Given the description of an element on the screen output the (x, y) to click on. 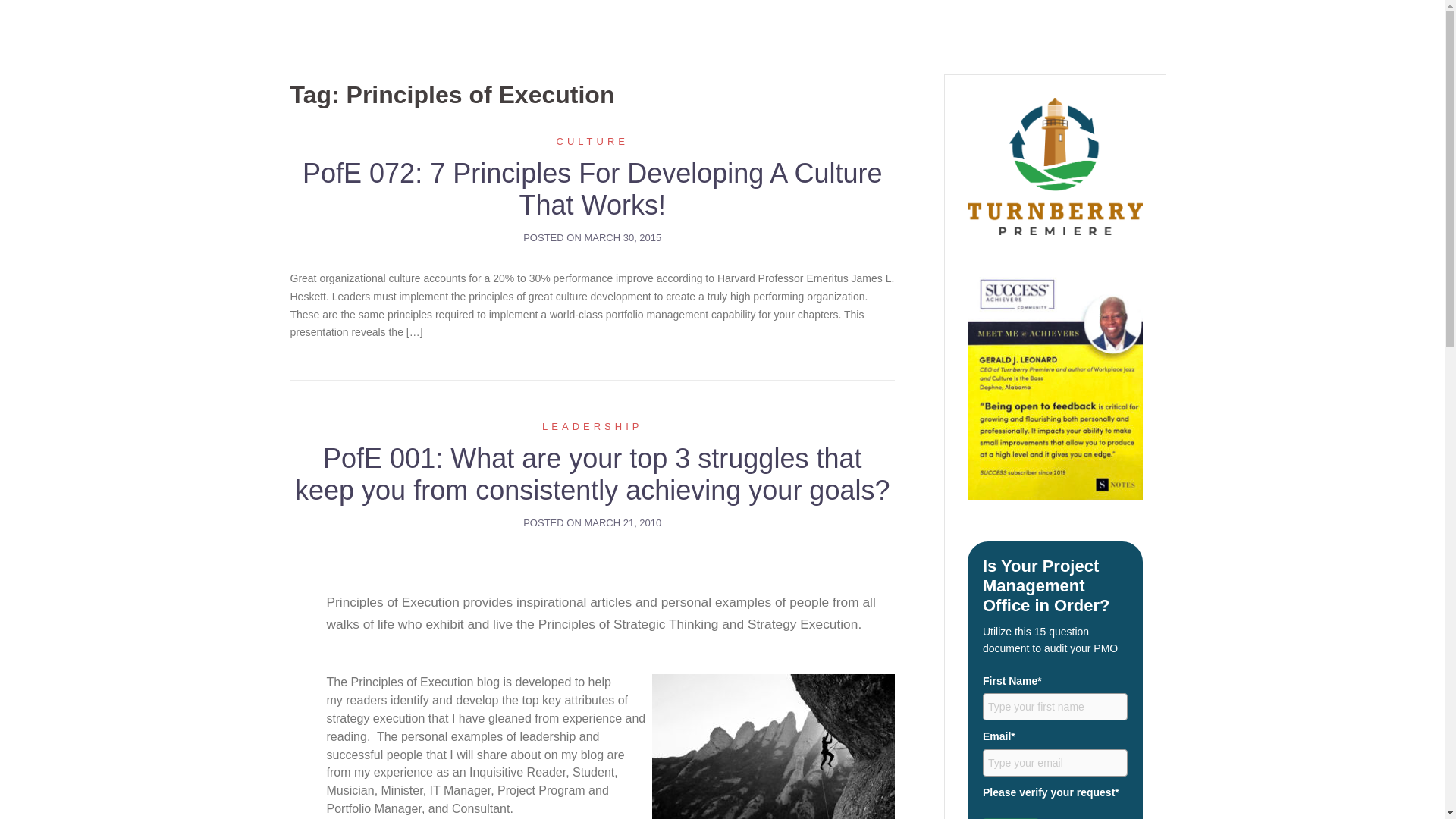
MARCH 30, 2015 (622, 237)
SUBMIT (1010, 818)
PPM SERVICES (1225, 24)
IT SERVICES (914, 24)
CULTURE (592, 141)
PofE 072: 7 Principles For Developing A Culture That Works! (592, 189)
MARCH 21, 2010 (622, 522)
Leadership (591, 426)
Culture (592, 141)
SUSTAINABILITY (1122, 24)
